Given the description of an element on the screen output the (x, y) to click on. 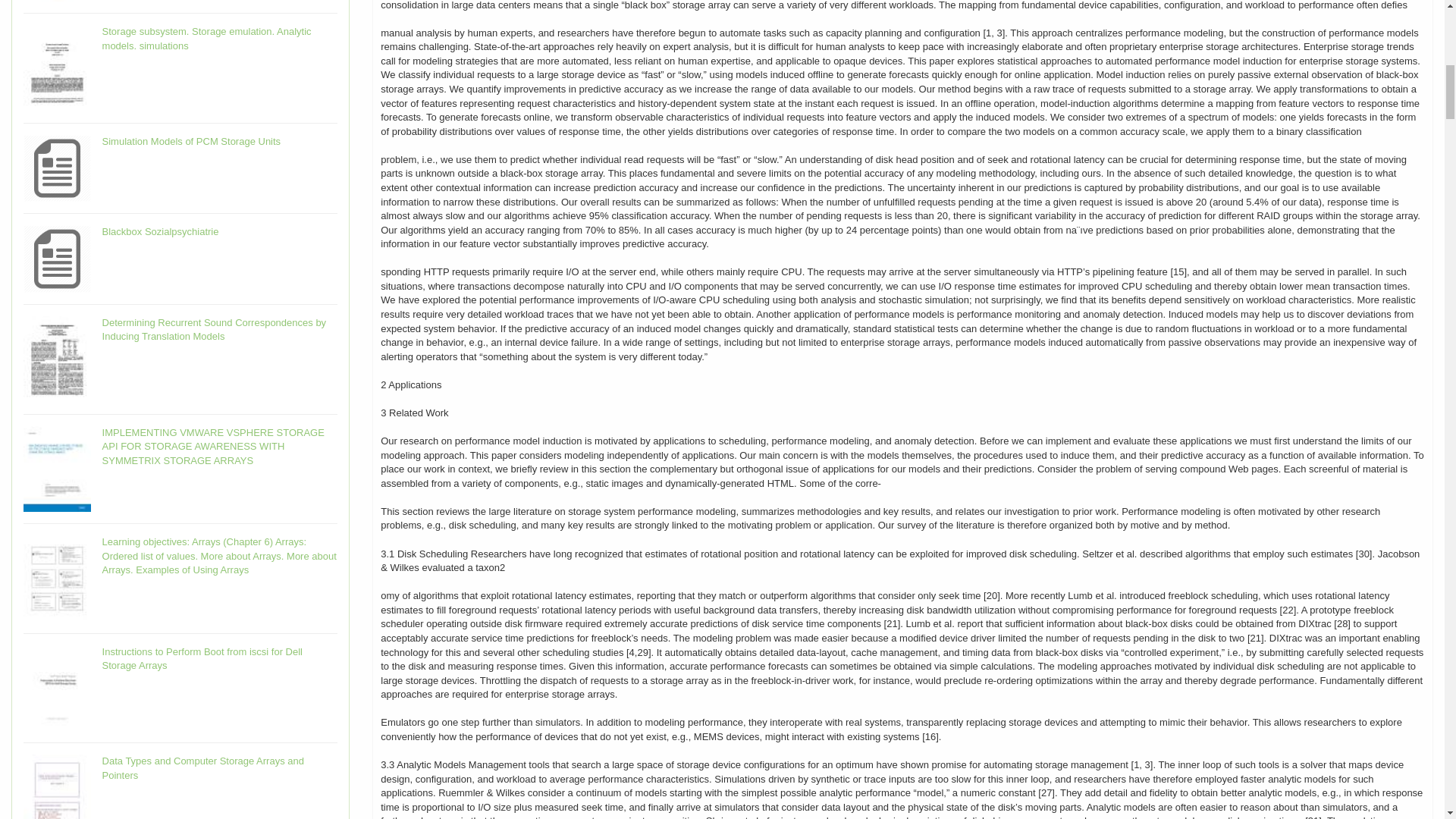
Simulation Models of PCM Storage Units (191, 141)
Blackbox Sozialpsychiatrie (160, 231)
Data Types and Computer Storage Arrays and Pointers (202, 768)
